Given the description of an element on the screen output the (x, y) to click on. 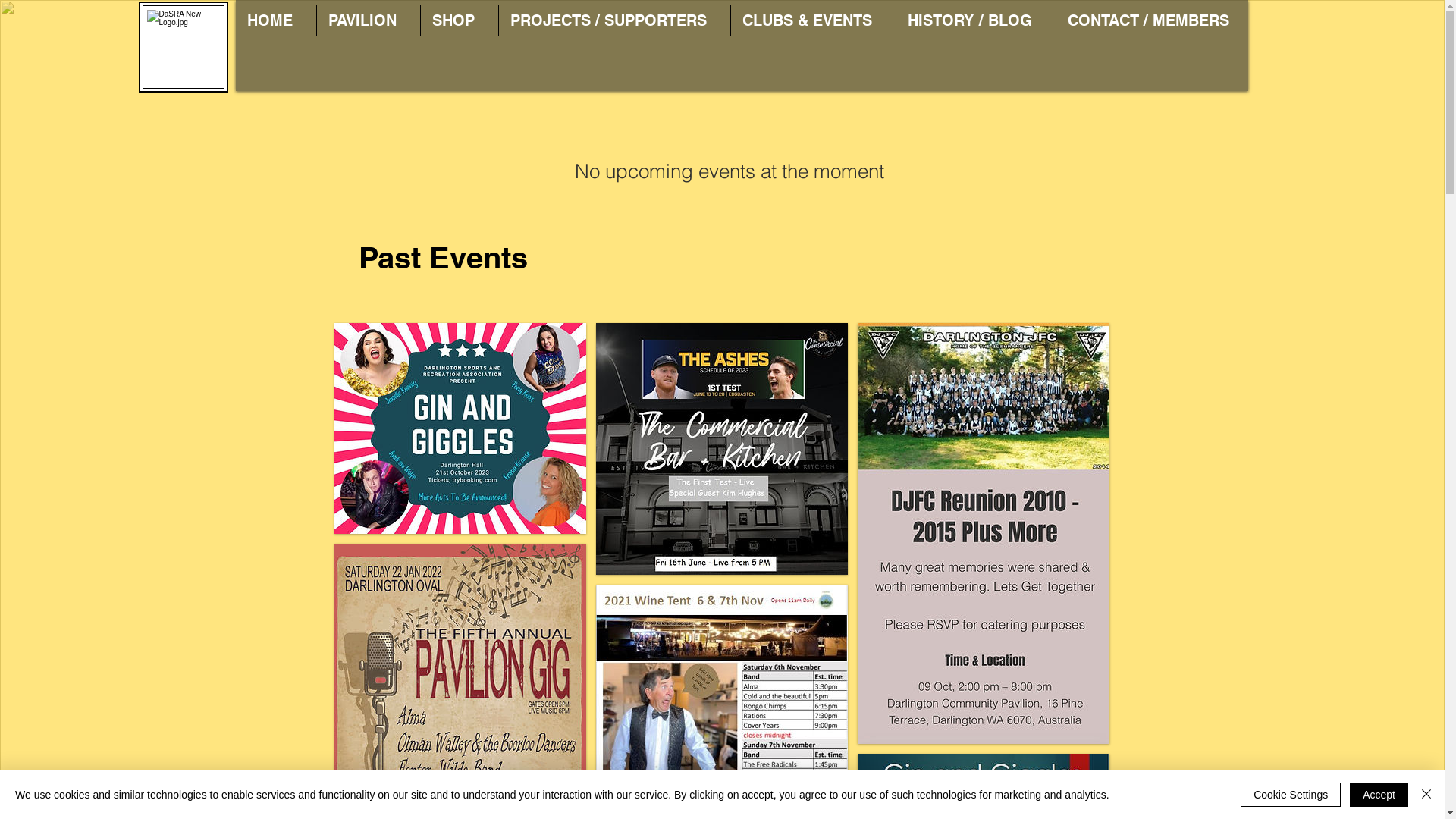
PAVILION Element type: text (368, 20)
HOME Element type: text (275, 20)
SHOP Element type: text (458, 20)
Cookie Settings Element type: text (1290, 794)
Accept Element type: text (1378, 794)
HISTORY / BLOG Element type: text (975, 20)
